Given the description of an element on the screen output the (x, y) to click on. 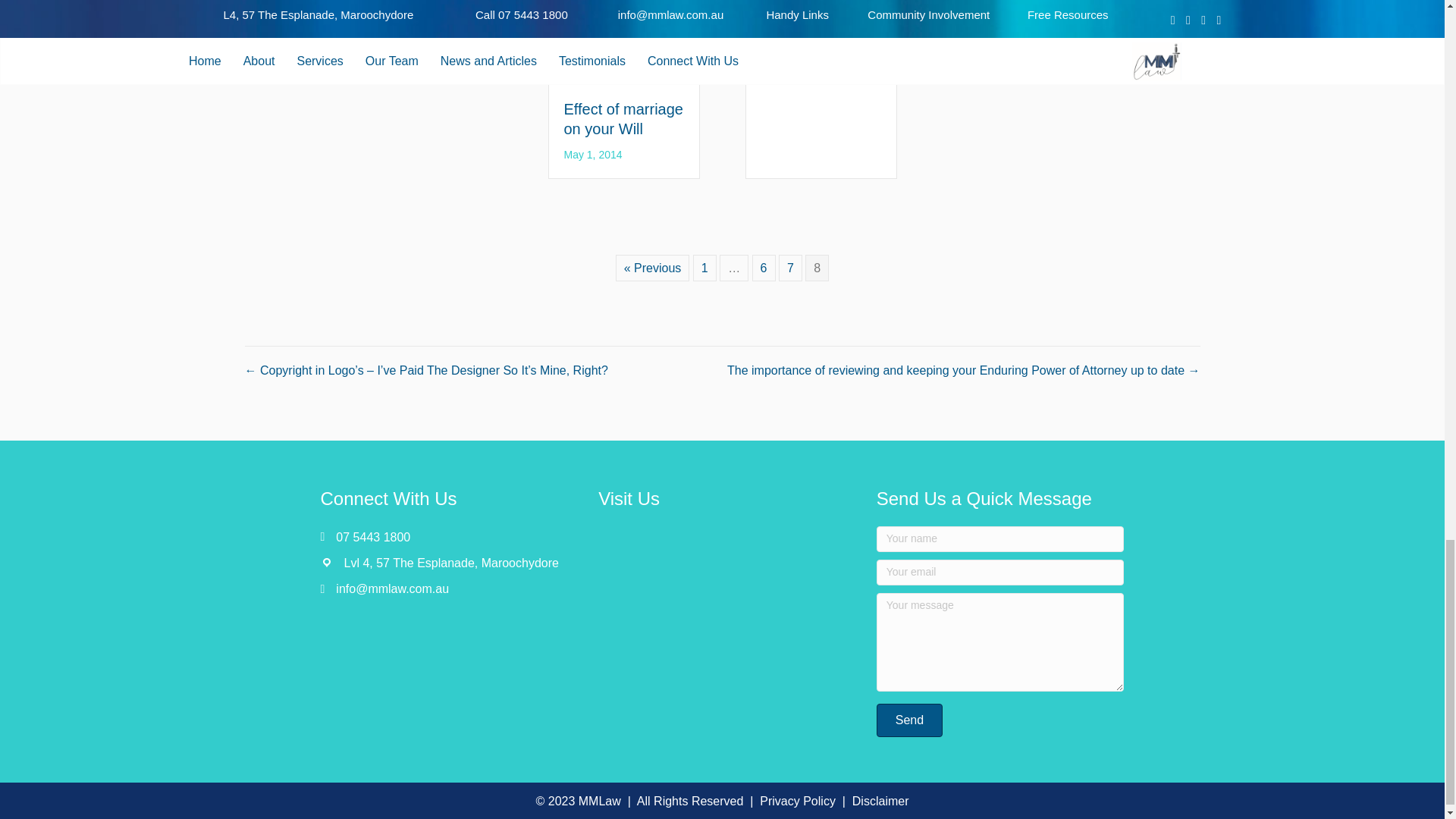
Effect of marriage on your Will (623, 118)
Effect of marriage on your Will (623, 7)
Identity Theft and Protecting your Credit History (819, 3)
